Given the description of an element on the screen output the (x, y) to click on. 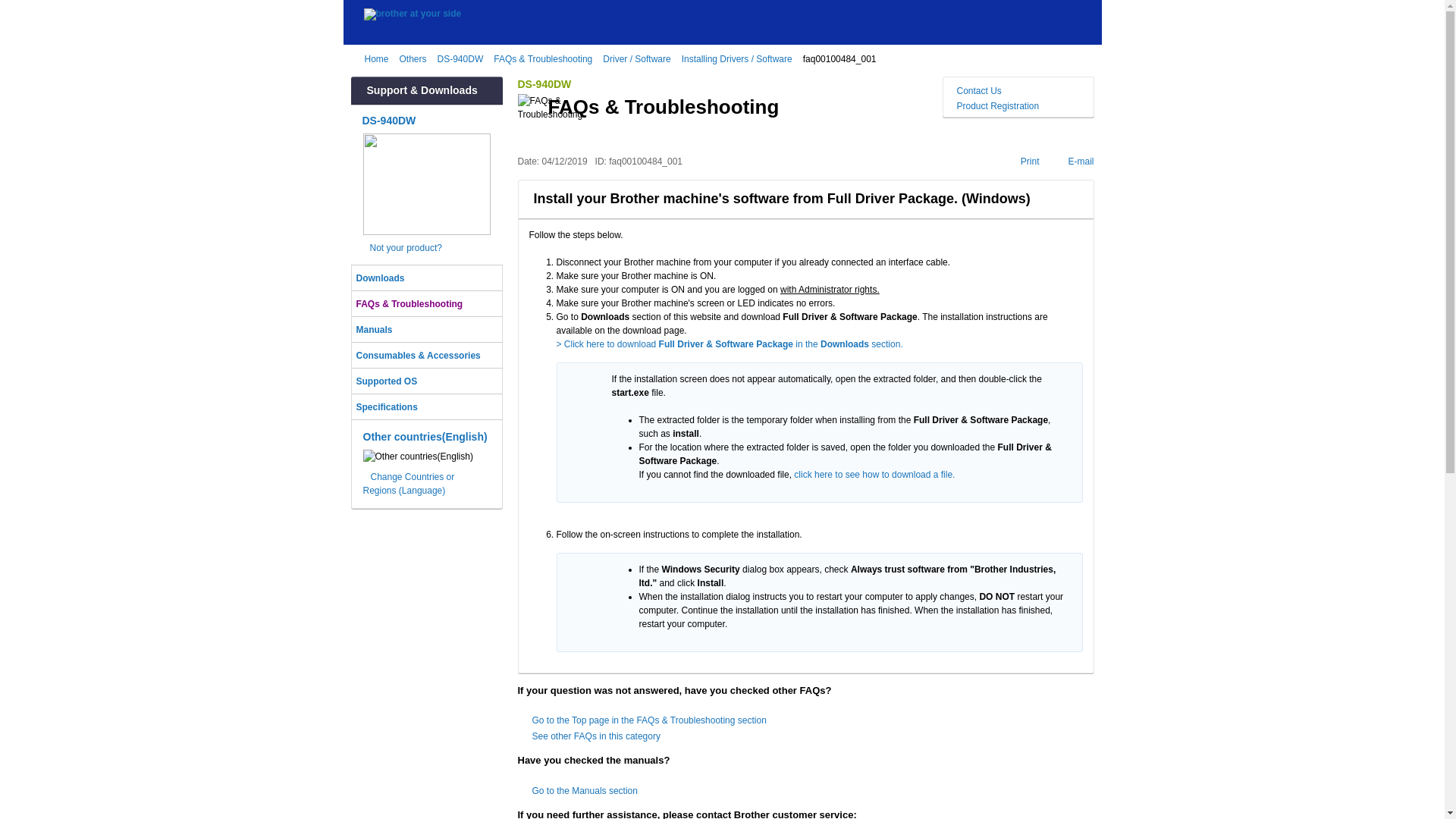
Specifications (426, 406)
Product Registration (1017, 106)
Home (379, 59)
click here to see how to download a file. (874, 474)
Supported OS (426, 380)
Print (1024, 161)
Others (415, 59)
Go to the Manuals section (584, 790)
Contact Us (1017, 90)
DS-940DW (389, 120)
